Given the description of an element on the screen output the (x, y) to click on. 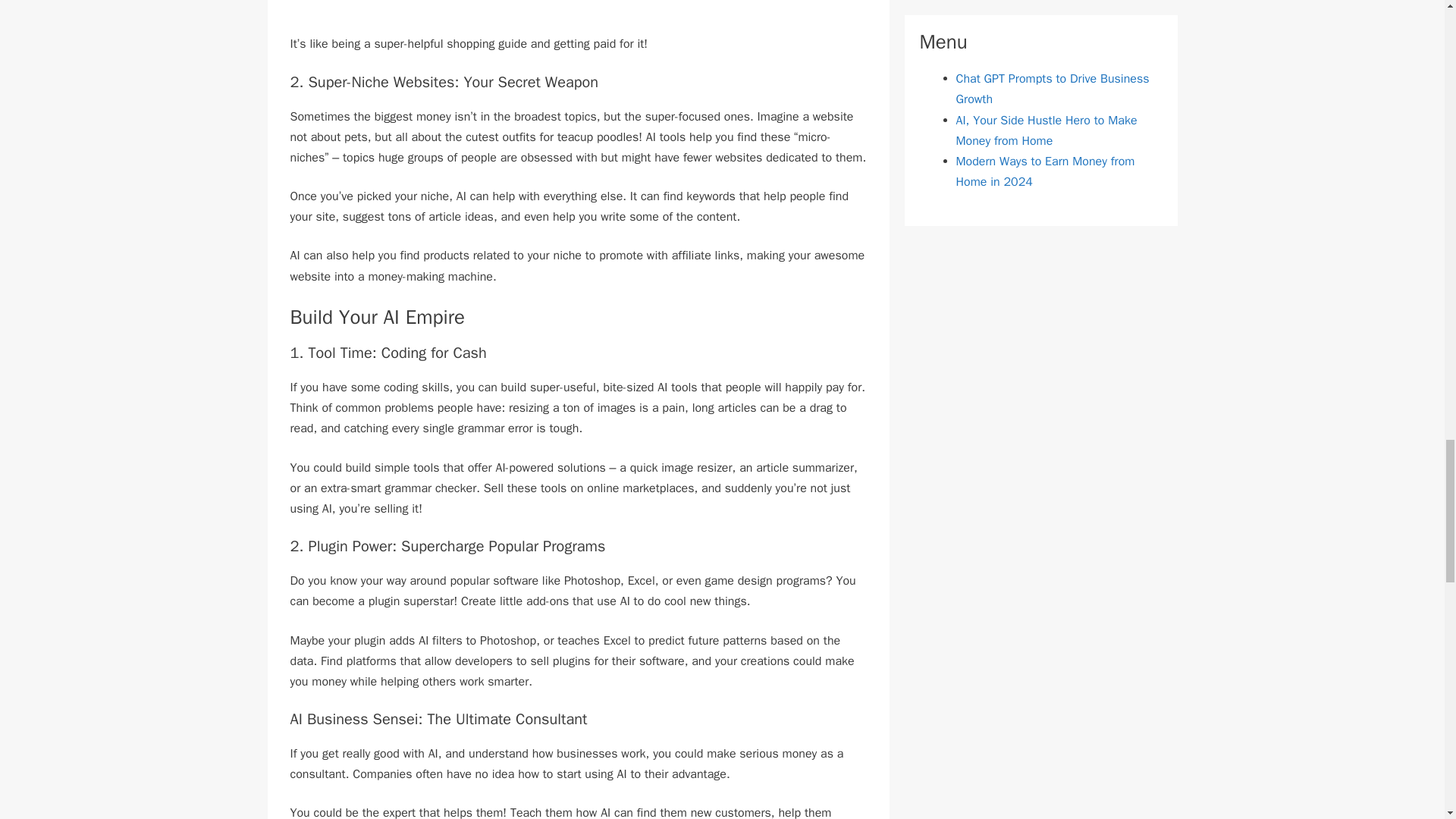
Advertisement (577, 17)
